Given the description of an element on the screen output the (x, y) to click on. 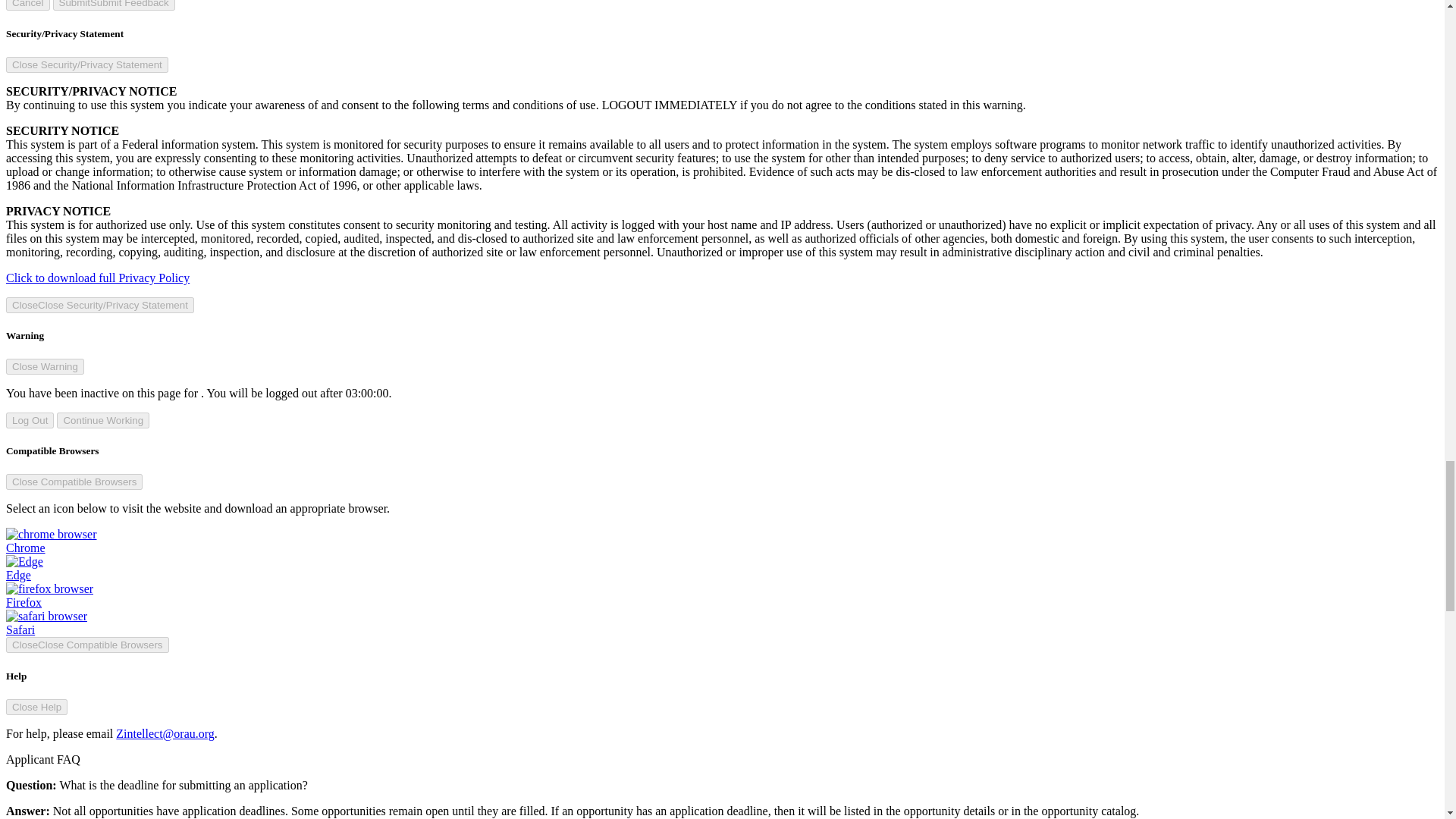
Cancel (27, 5)
SubmitSubmit Feedback (113, 5)
